Given the description of an element on the screen output the (x, y) to click on. 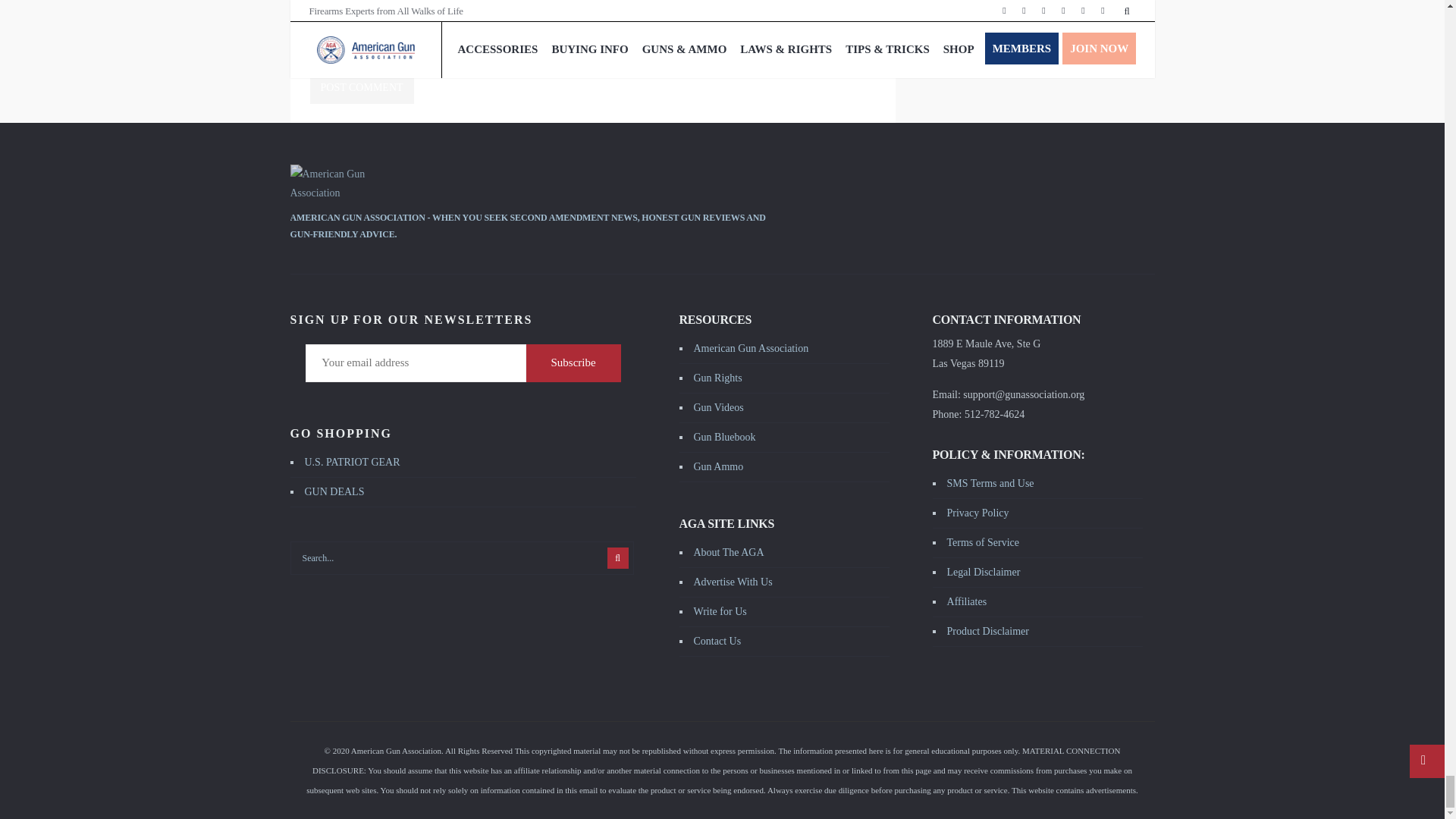
yes (580, 67)
Post Comment (360, 88)
Subscribe (573, 362)
Search... (461, 557)
